Given the description of an element on the screen output the (x, y) to click on. 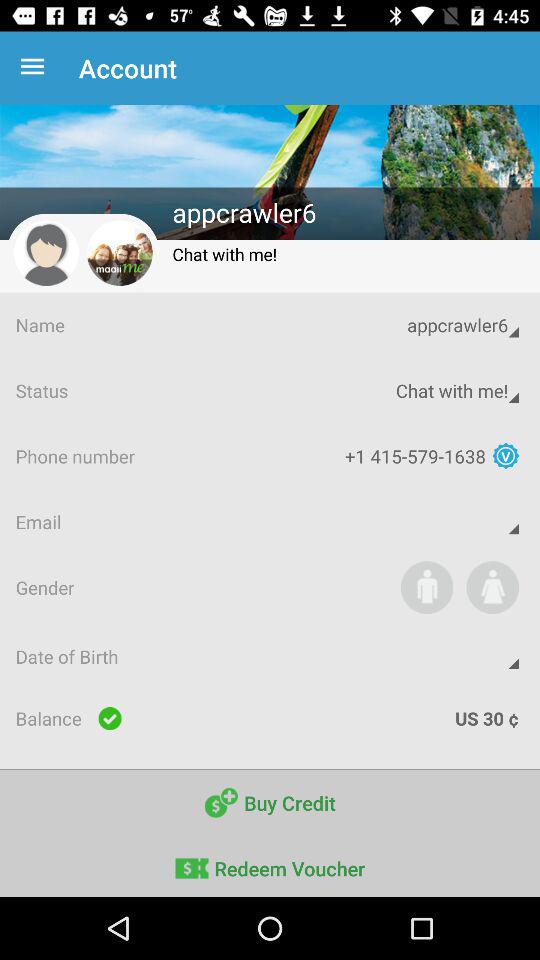
scroll to the buy credit item (270, 802)
